Given the description of an element on the screen output the (x, y) to click on. 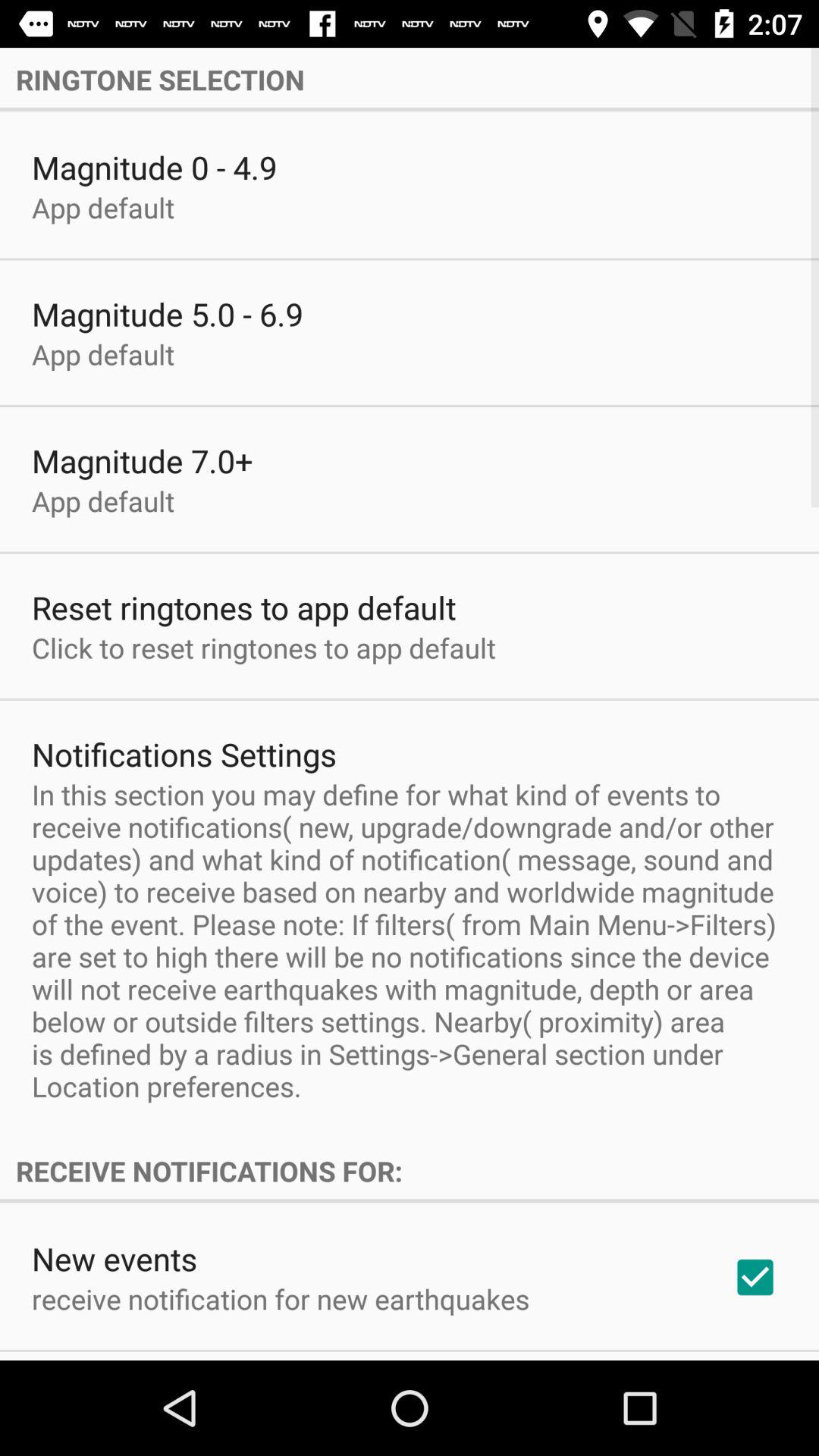
turn on the checkbox at the bottom right corner (755, 1277)
